Given the description of an element on the screen output the (x, y) to click on. 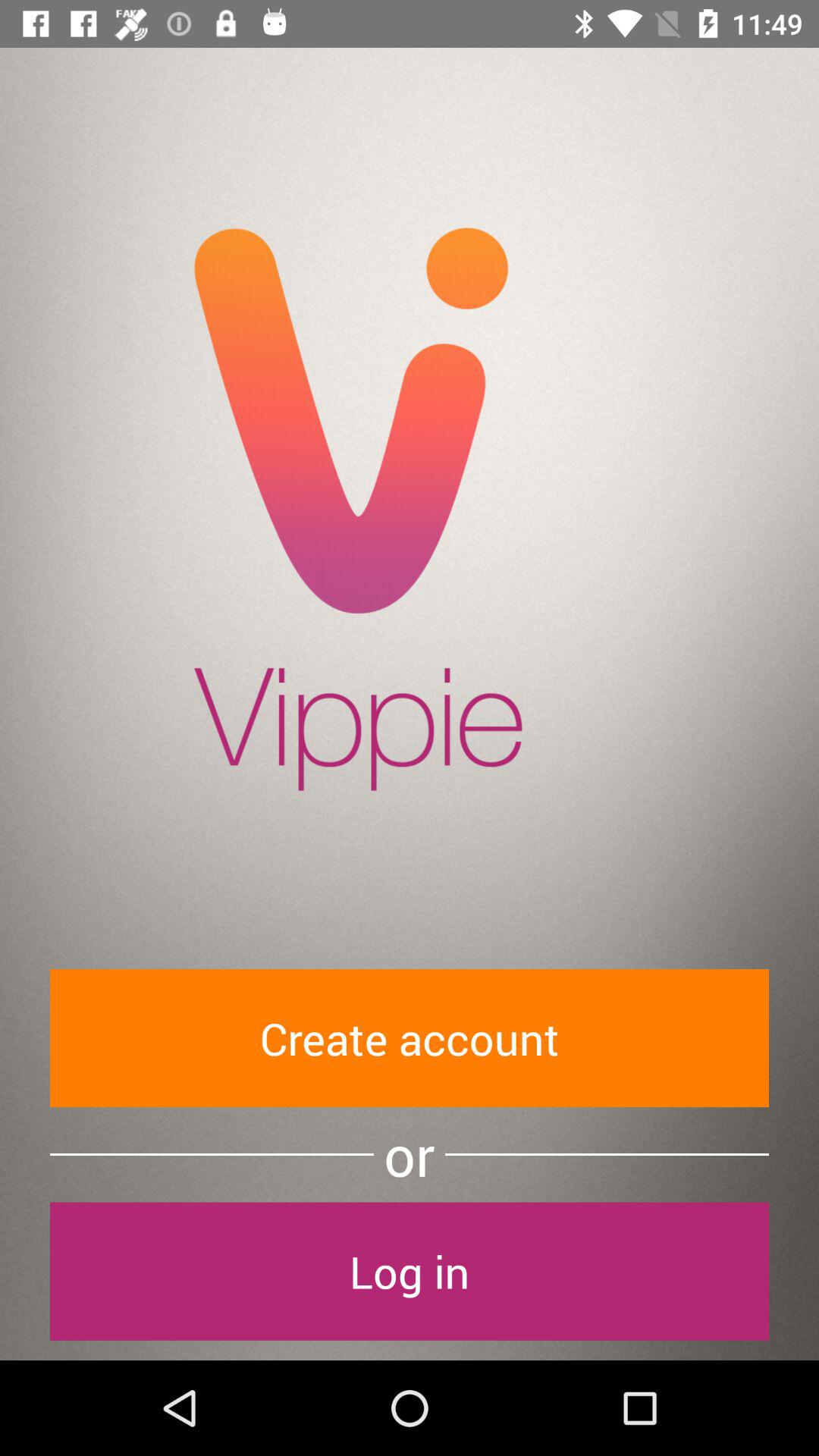
swipe until log in icon (409, 1271)
